Given the description of an element on the screen output the (x, y) to click on. 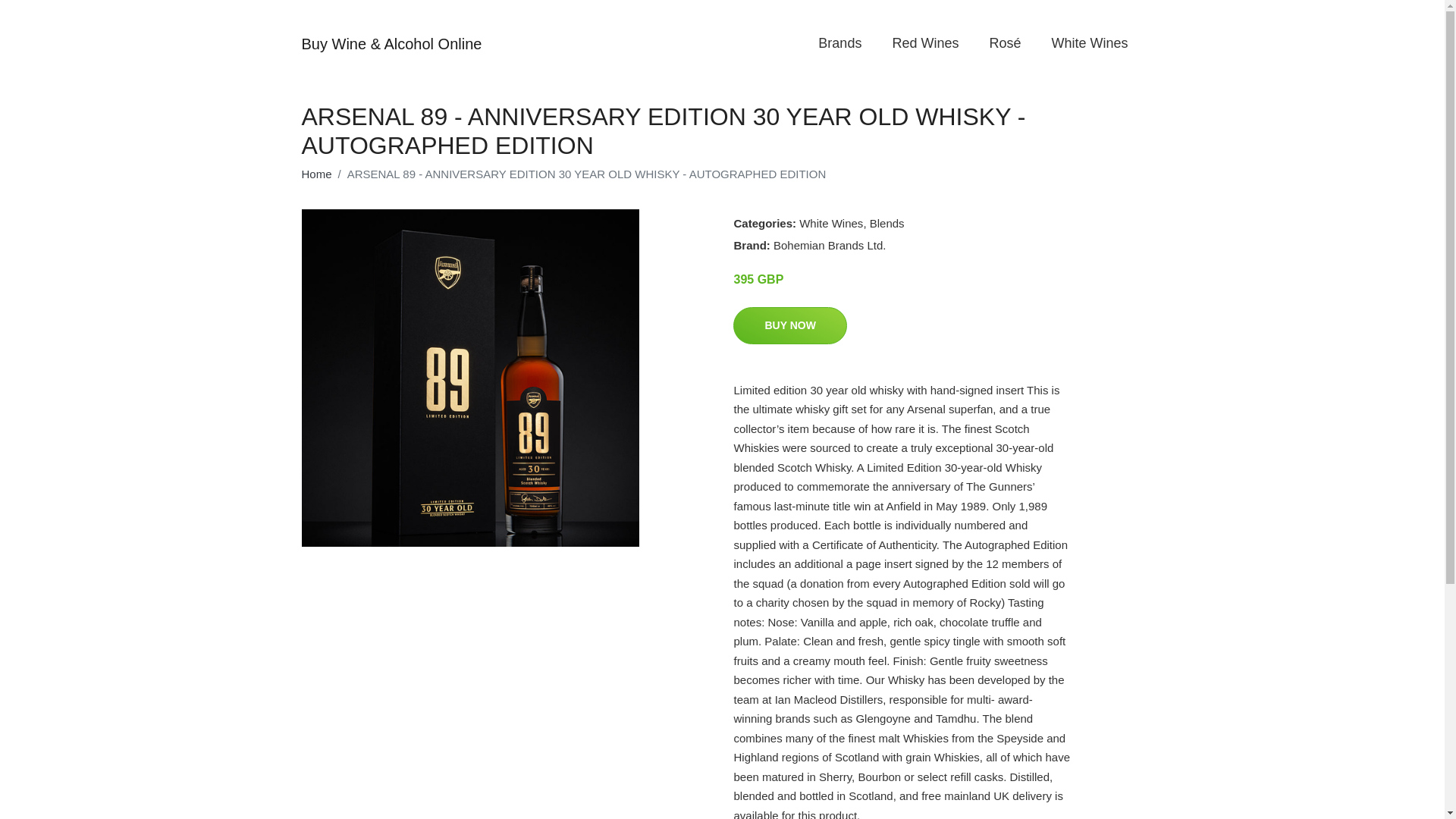
Home (316, 173)
Brands (839, 42)
Red Wines (925, 42)
White Wines (831, 223)
BUY NOW (789, 325)
Blends (886, 223)
White Wines (1088, 42)
